Given the description of an element on the screen output the (x, y) to click on. 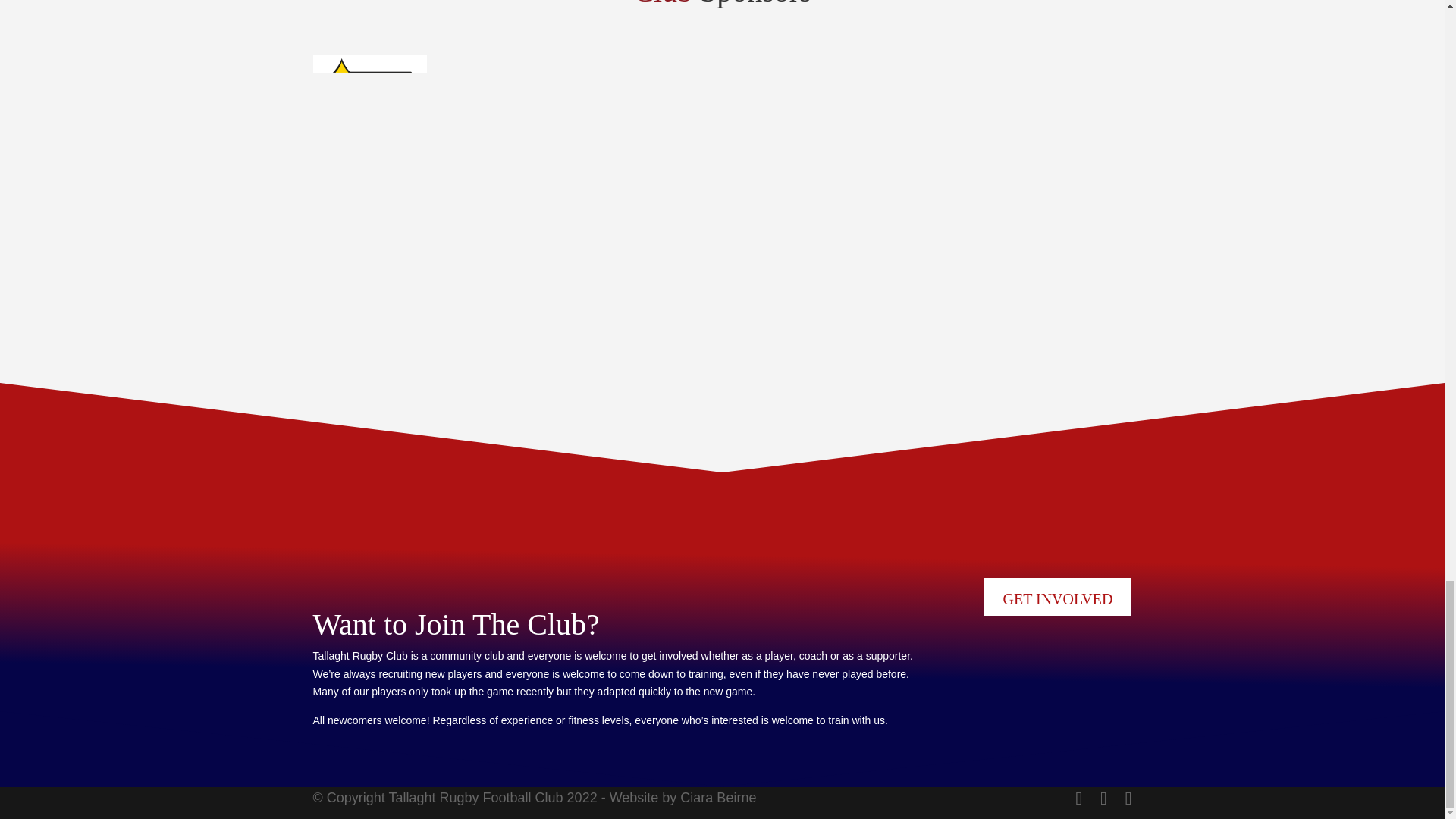
GET INVOLVED (1057, 596)
